Given the description of an element on the screen output the (x, y) to click on. 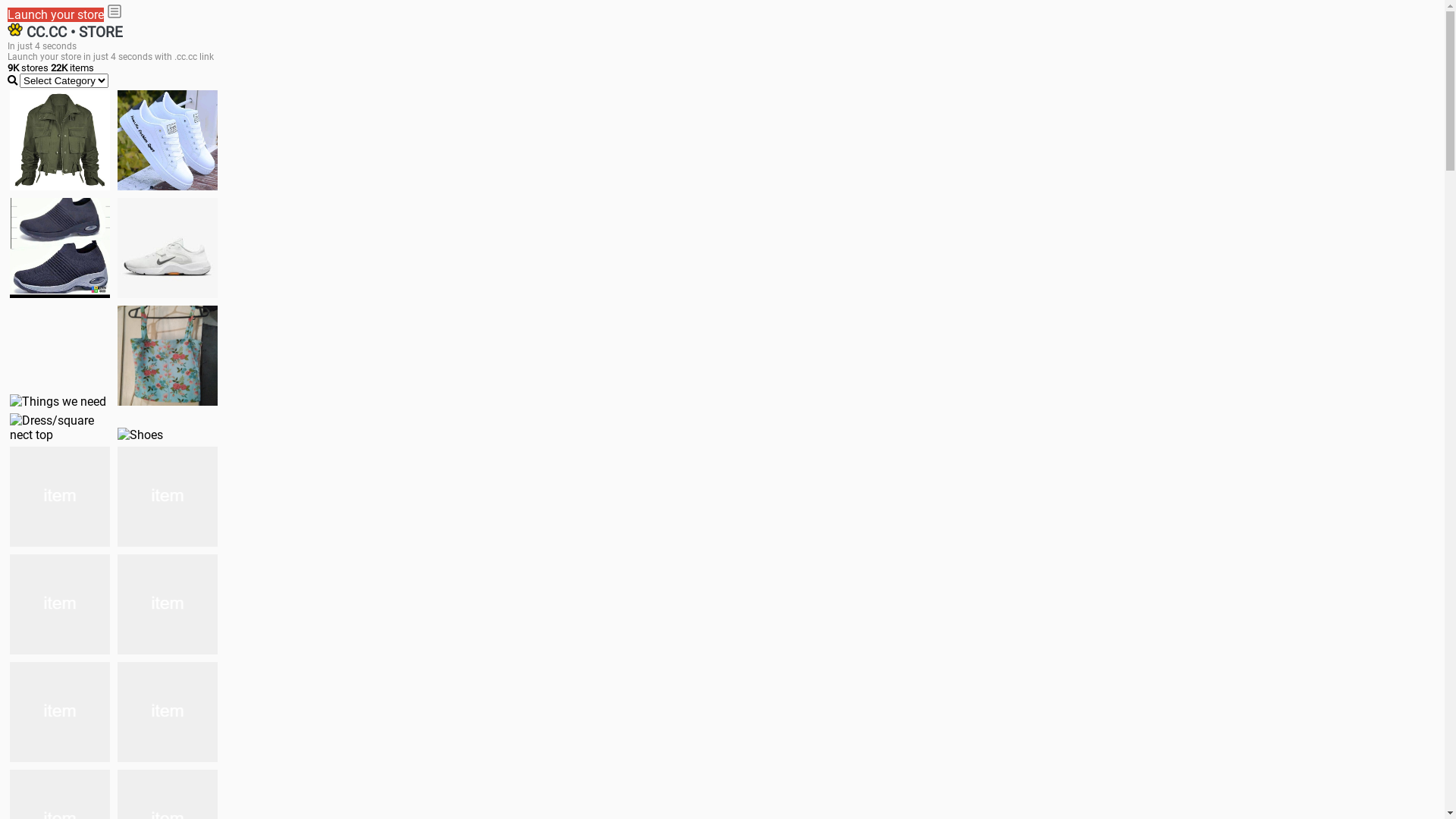
Shoes for boys Element type: hover (167, 247)
Zapatillas Element type: hover (59, 604)
Shoes Element type: hover (140, 434)
jacket Element type: hover (59, 140)
Zapatillas pumas Element type: hover (167, 496)
Things we need Element type: hover (57, 401)
Pant Element type: hover (59, 712)
Dress/square nect top Element type: hover (59, 427)
shoes for boys Element type: hover (59, 247)
Short pant Element type: hover (167, 604)
Launch your store Element type: text (55, 14)
Ukay cloth Element type: hover (167, 355)
Pant Element type: hover (167, 712)
white shoes Element type: hover (167, 140)
